Given the description of an element on the screen output the (x, y) to click on. 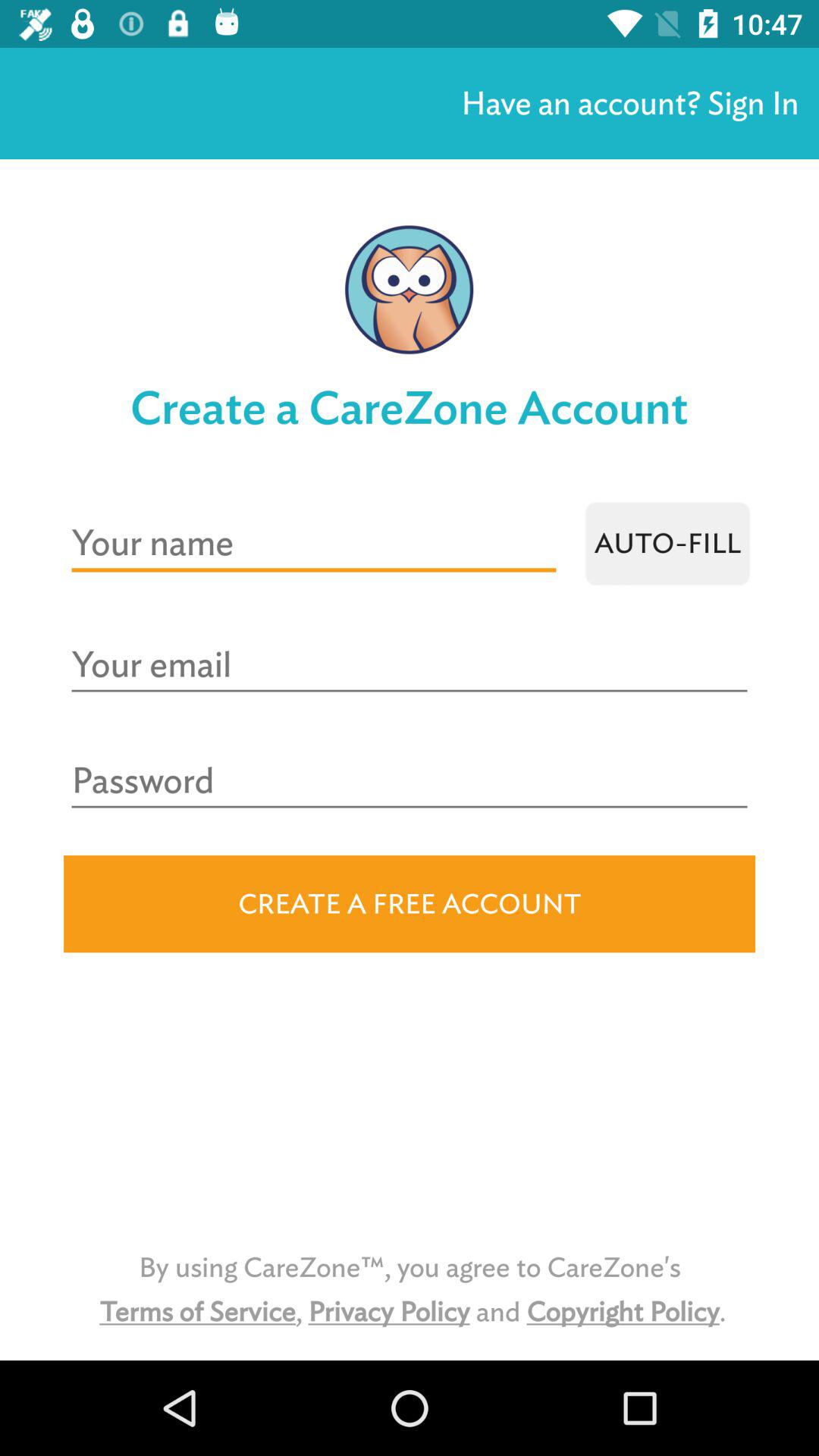
press have an account item (630, 103)
